Given the description of an element on the screen output the (x, y) to click on. 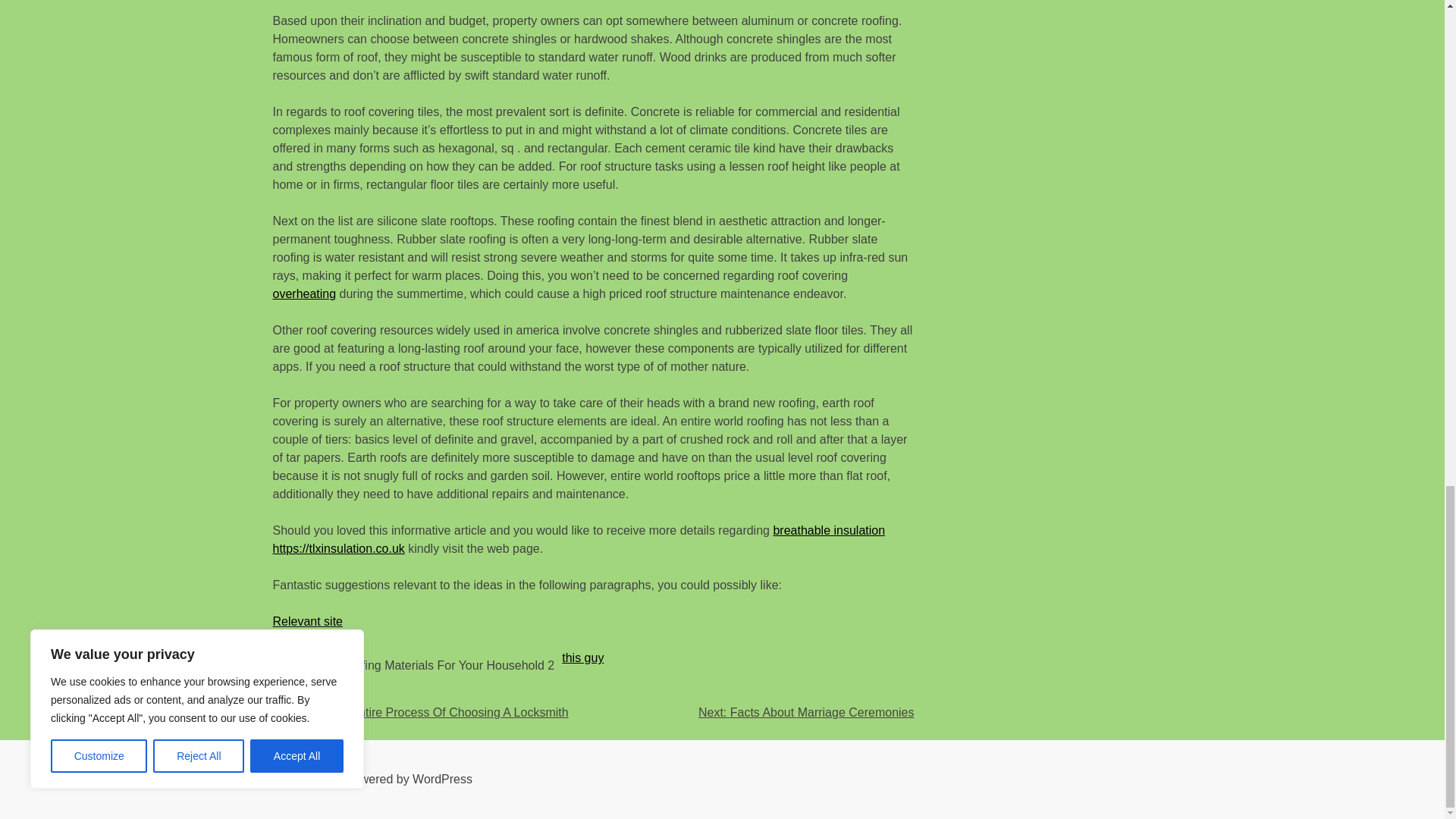
this guy (583, 657)
Next: Facts About Marriage Ceremonies (806, 712)
overheating (304, 293)
Previous: The Entire Process Of Choosing A Locksmith (421, 712)
Relevant site (308, 621)
